Given the description of an element on the screen output the (x, y) to click on. 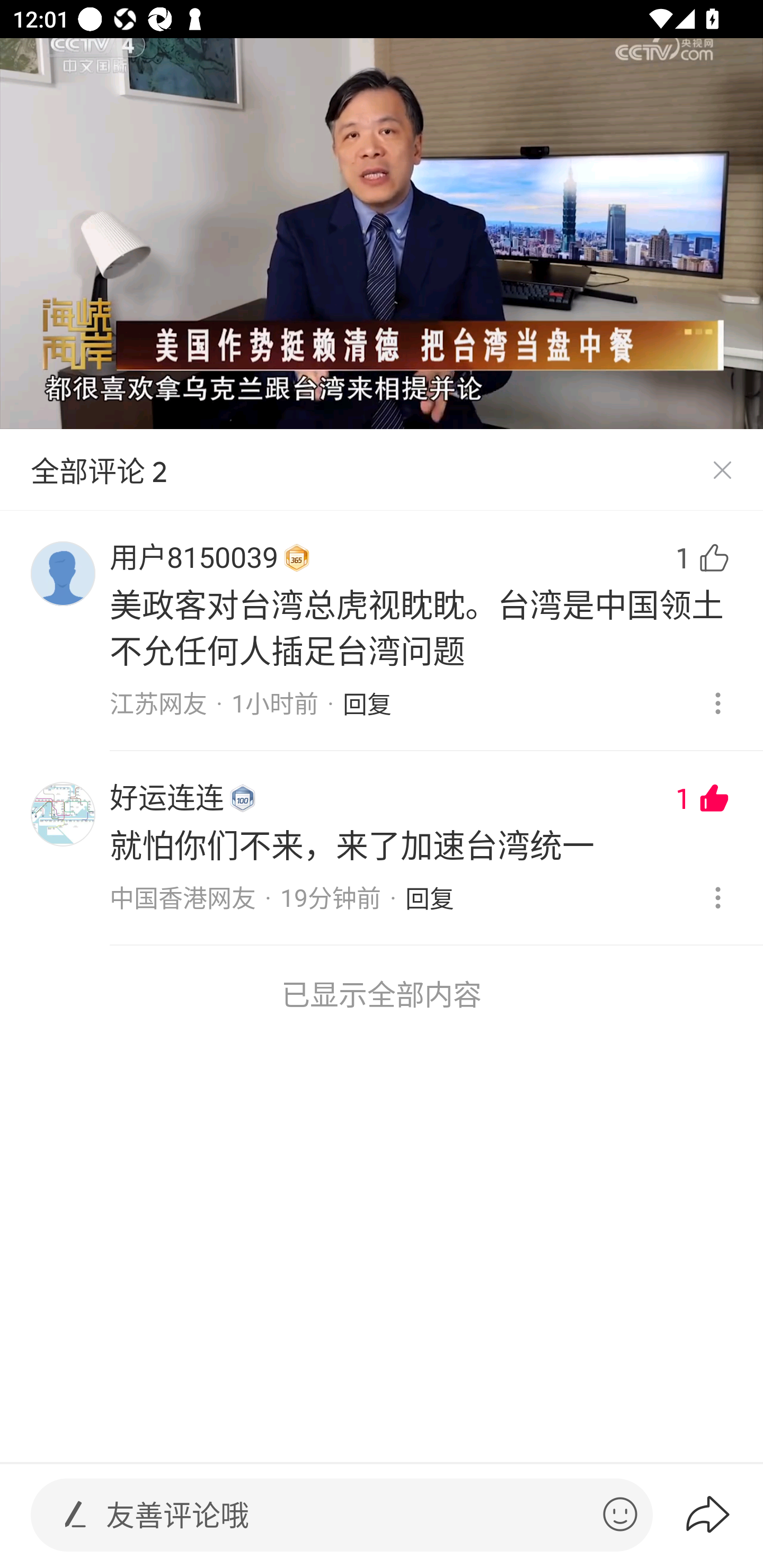
全部评论 2 关闭 (381, 470)
关闭 (722, 470)
UserRightLabel_OneMedalView 勋章 (296, 558)
UserRightLabel_OneMedalView 勋章 (242, 798)
已显示全部内容 (381, 993)
友善评论哦 发表评论 (346, 1515)
 分享 (723, 1514)
 (75, 1514)
 (619, 1514)
